Given the description of an element on the screen output the (x, y) to click on. 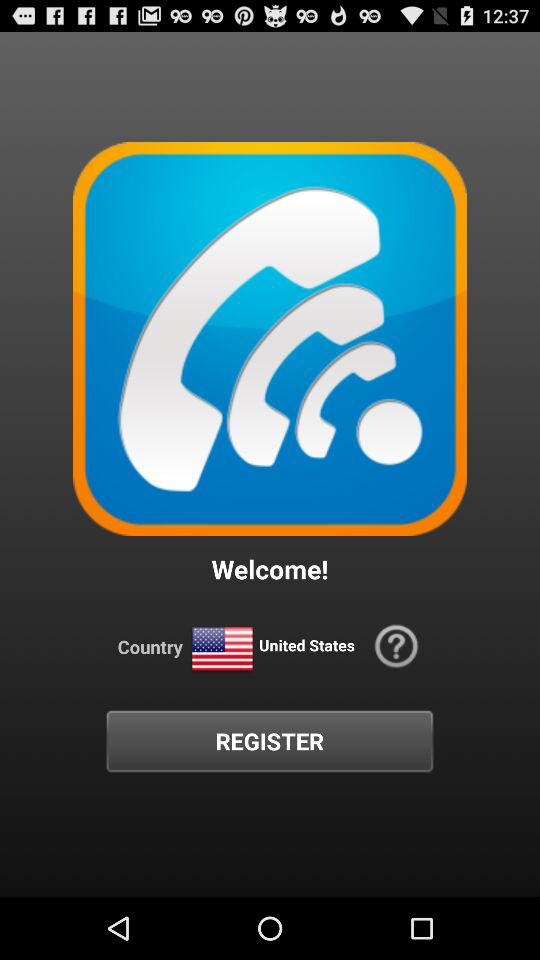
turn on the icon at the bottom right corner (396, 646)
